Given the description of an element on the screen output the (x, y) to click on. 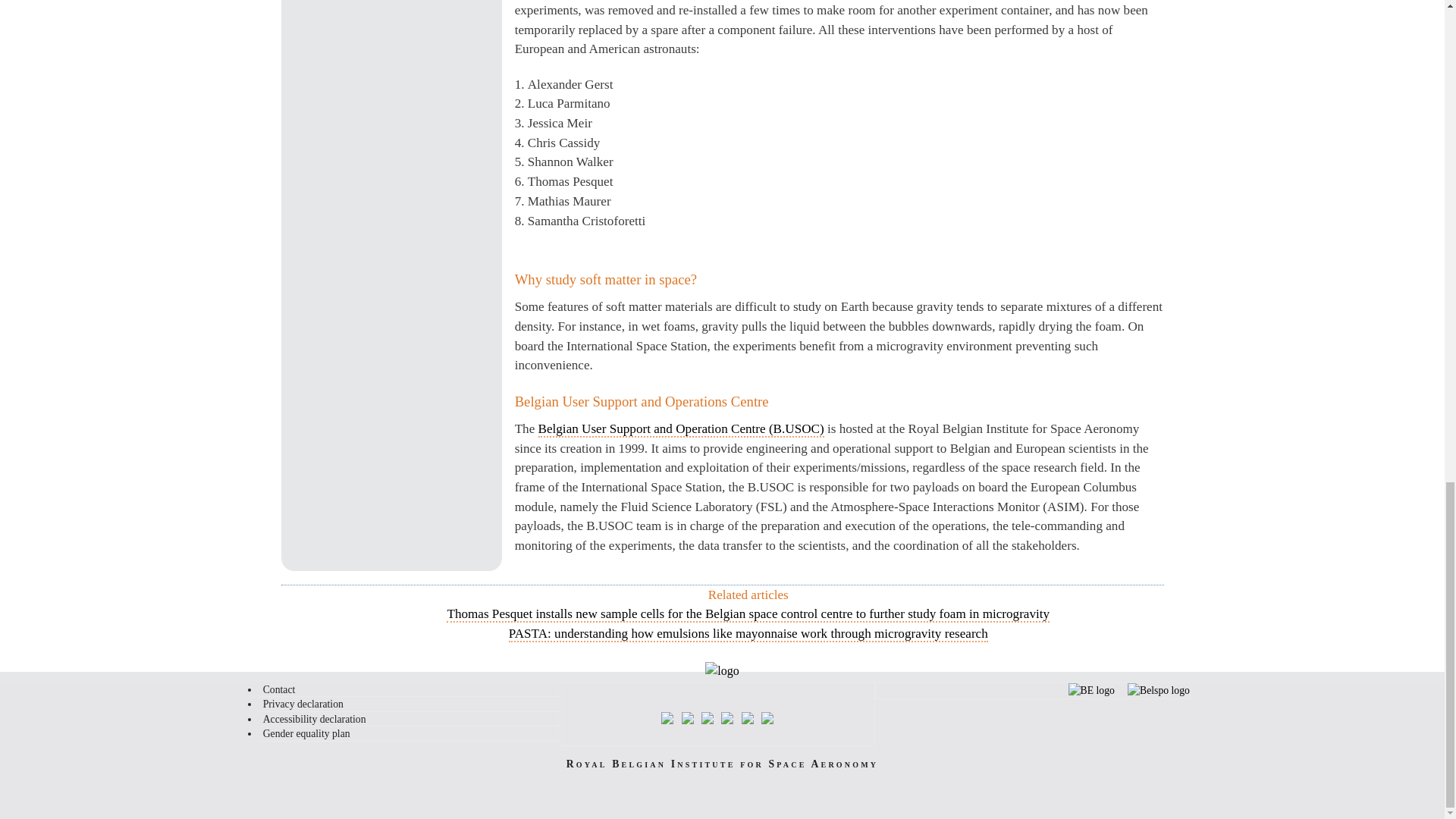
Gender equality plan (409, 734)
Contact (409, 689)
Privacy notice (409, 704)
Accessibility declaration (409, 719)
Privacy declaration (409, 704)
Usability of our website (409, 719)
